Given the description of an element on the screen output the (x, y) to click on. 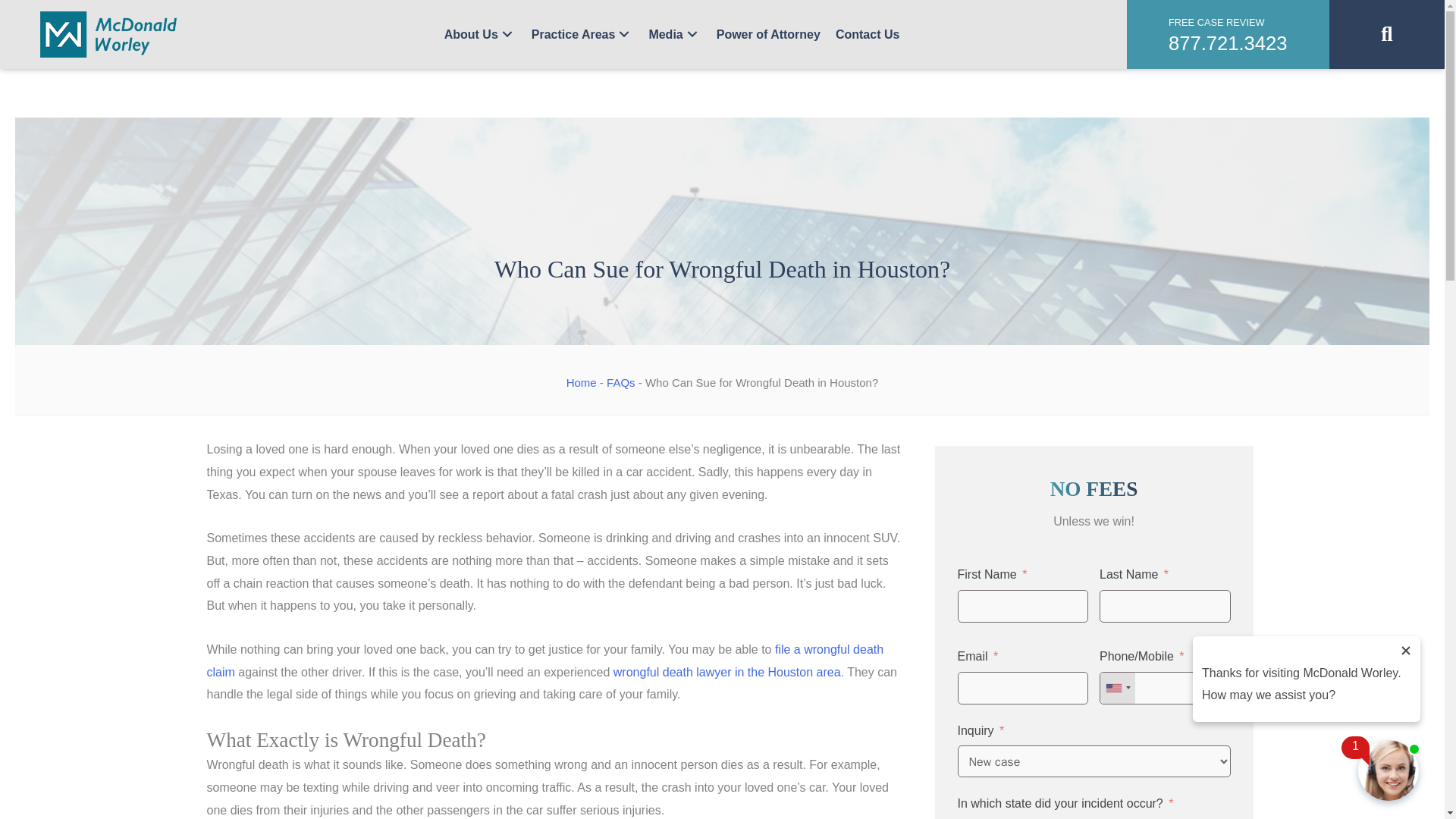
About Us (480, 34)
Practice Areas (583, 34)
